Given the description of an element on the screen output the (x, y) to click on. 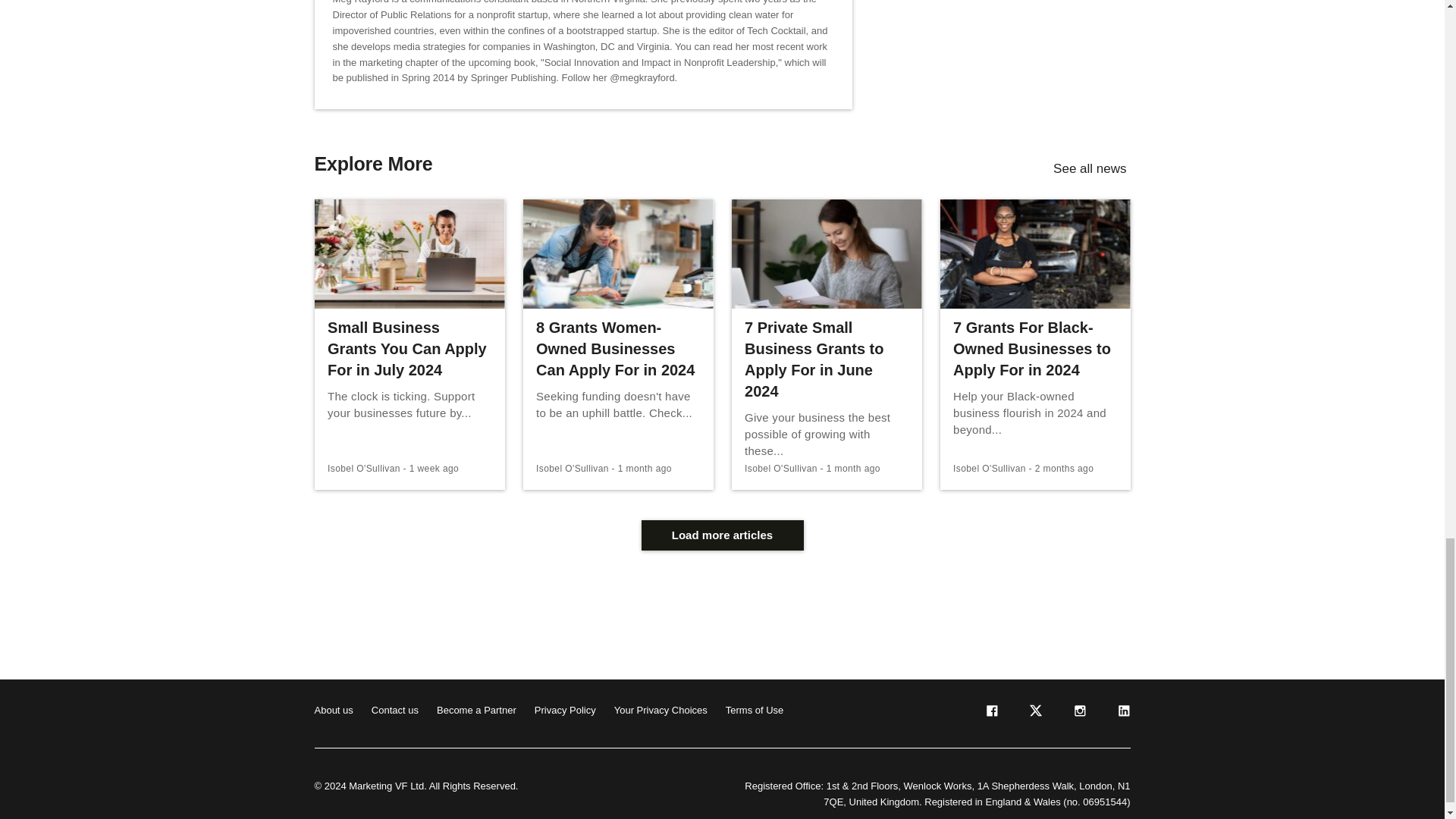
instagram (1078, 713)
linkedin (1122, 713)
twitter-x (1034, 713)
facebook (990, 713)
